Given the description of an element on the screen output the (x, y) to click on. 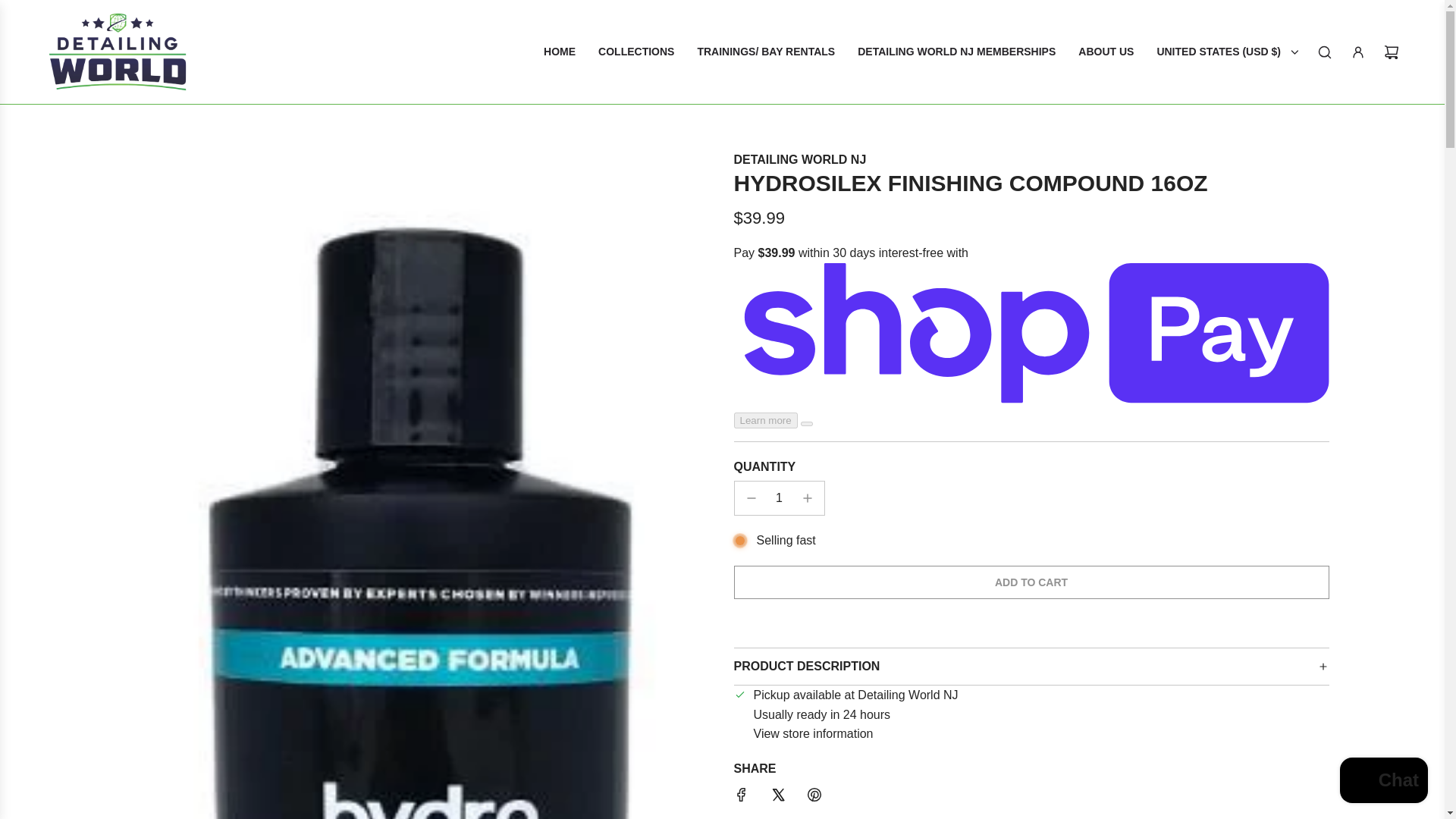
DETAILING WORLD NJ (799, 159)
COLLECTIONS (636, 51)
Detailing World NJ (799, 159)
Shopify online store chat (1383, 781)
ABOUT US (1031, 581)
View store information (1106, 51)
DETAILING WORLD NJ MEMBERSHIPS (813, 733)
